Given the description of an element on the screen output the (x, y) to click on. 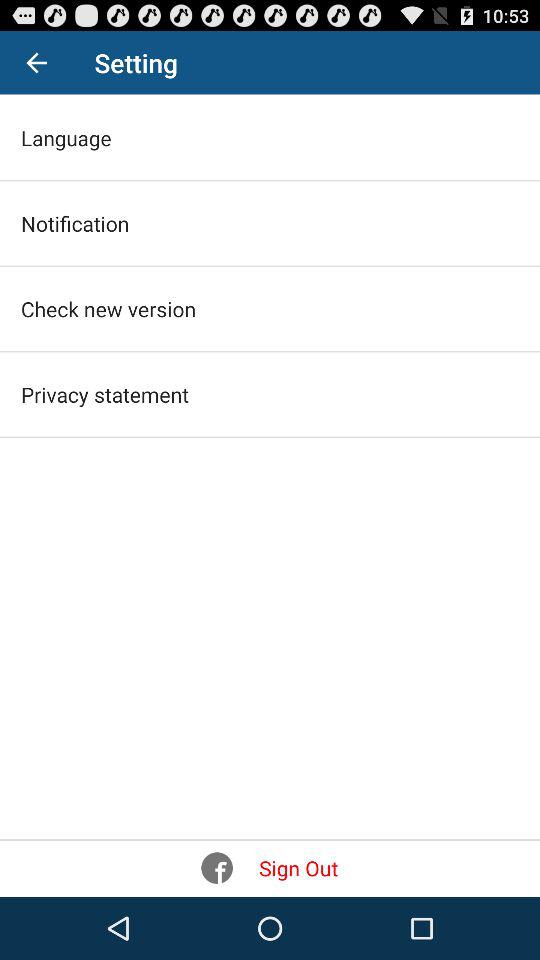
click icon above language icon (36, 62)
